Given the description of an element on the screen output the (x, y) to click on. 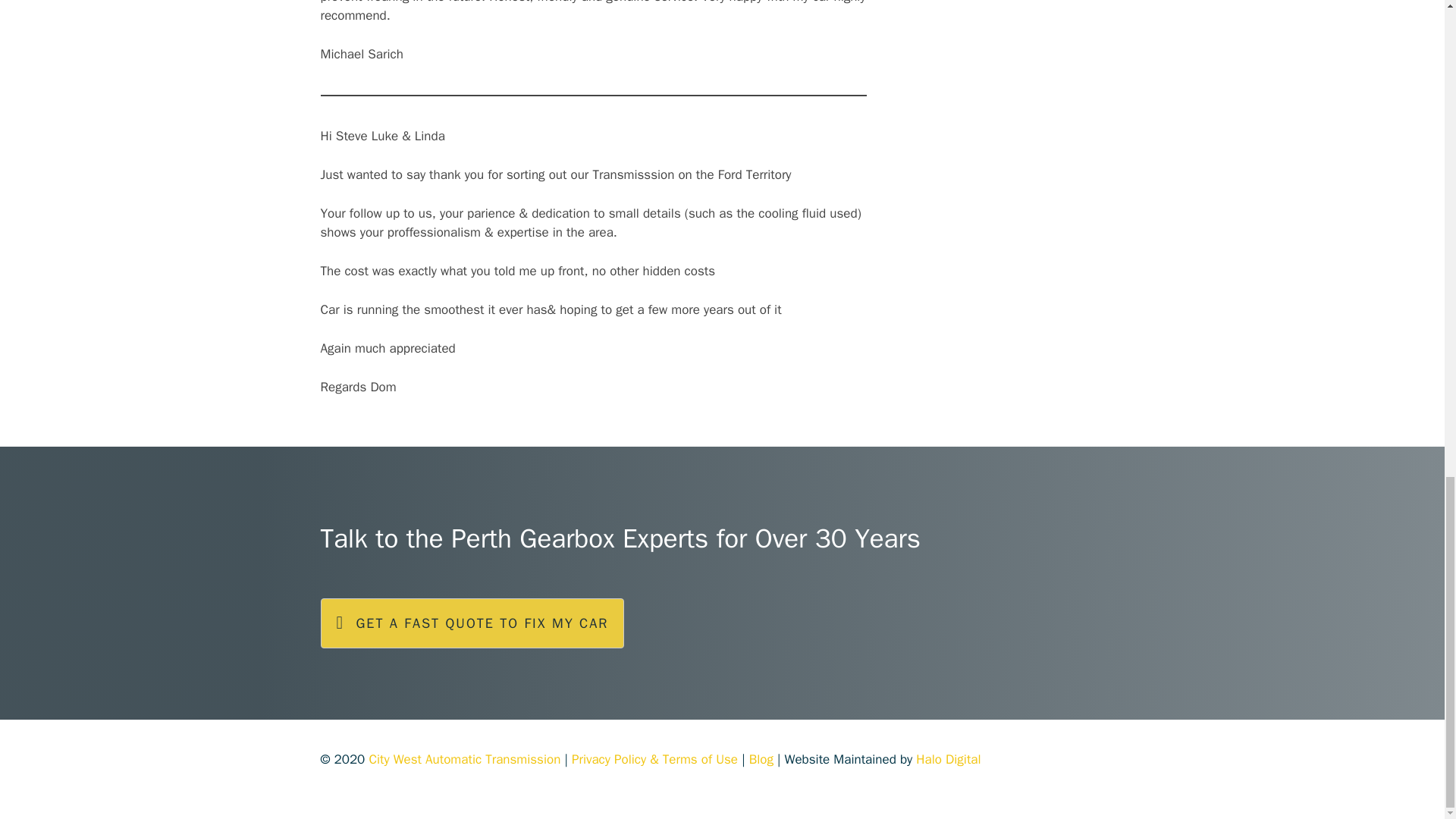
City West Automatic Transmission (464, 759)
GET A FAST QUOTE TO FIX MY CAR (472, 622)
Halo Digital (947, 759)
Blog (761, 759)
Scroll back to top (1406, 386)
